Given the description of an element on the screen output the (x, y) to click on. 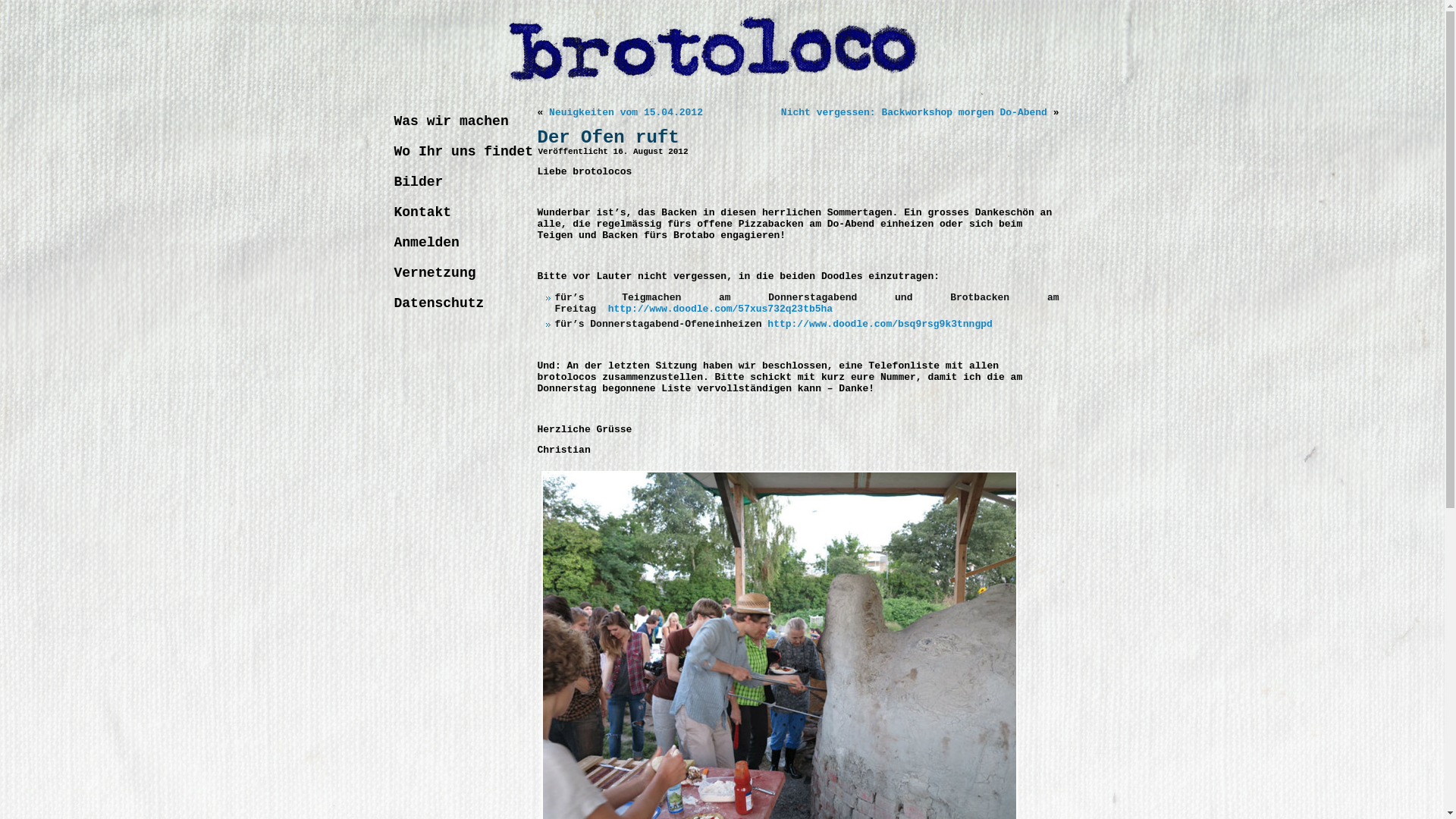
Wo Ihr uns findet Element type: text (456, 151)
Neuigkeiten vom 15.04.2012 Element type: text (625, 112)
Kontakt Element type: text (456, 211)
http://www.doodle.com/bsq9rsg9k3tnngpd Element type: text (879, 323)
Bilder Element type: text (456, 181)
http://www.doodle.com/57xus732q23tb5ha Element type: text (720, 308)
Vernetzung Element type: text (456, 272)
Anmelden Element type: text (456, 242)
Was wir machen Element type: text (456, 120)
Nicht vergessen: Backworkshop morgen Do-Abend Element type: text (914, 112)
Datenschutz Element type: text (456, 302)
